Given the description of an element on the screen output the (x, y) to click on. 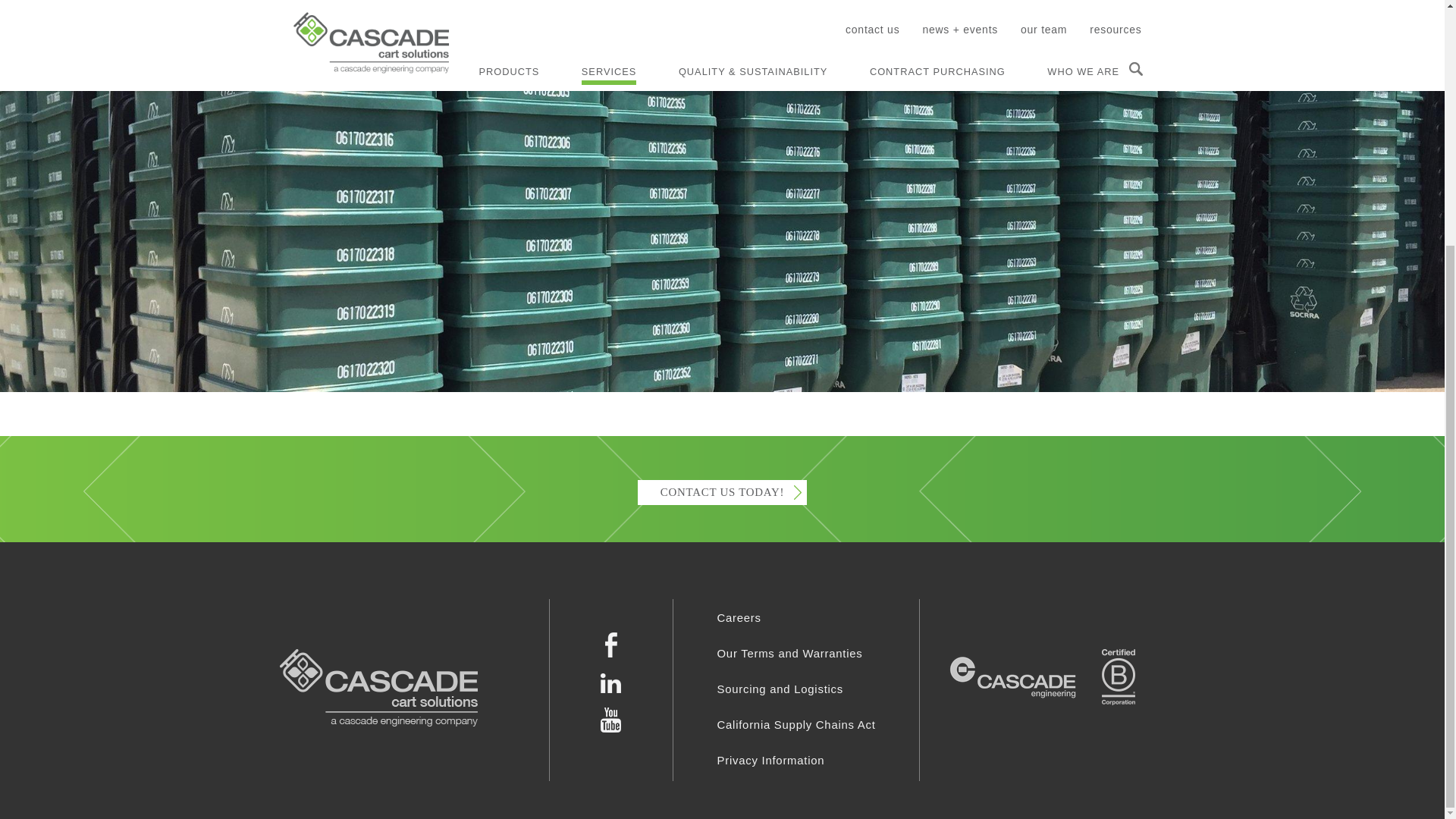
Cascade Engineering LinkedIn (610, 682)
Cascade Engineering on LinkedIn (610, 688)
Cascade Engineering Family of Companies (1015, 684)
CONTACT US TODAY! (721, 492)
Cascade Engineering (1013, 677)
Cascade Cart Solutions: A Cascade Engineering Company (378, 690)
Cascade Engineering's YouTube (610, 727)
Cascade Engineering on LinkedIn (611, 653)
